Given the description of an element on the screen output the (x, y) to click on. 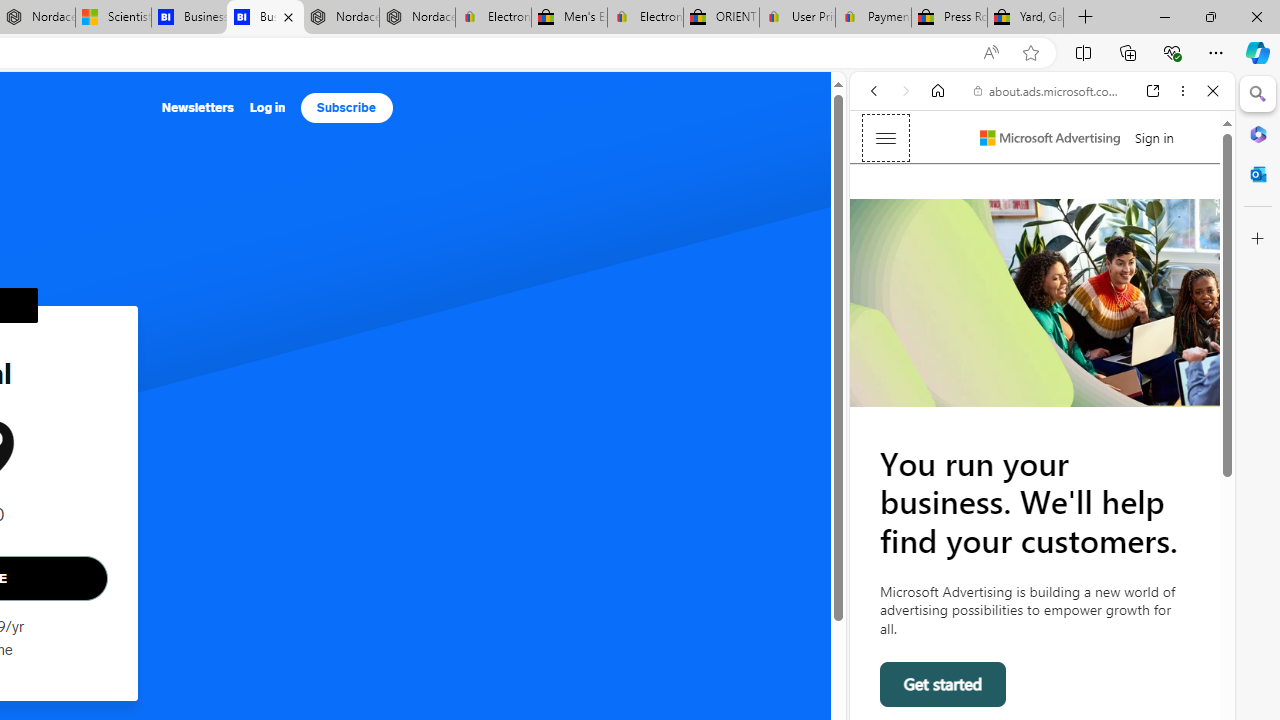
Newsletters (198, 107)
Microsoft Advertising (1050, 137)
